Given the description of an element on the screen output the (x, y) to click on. 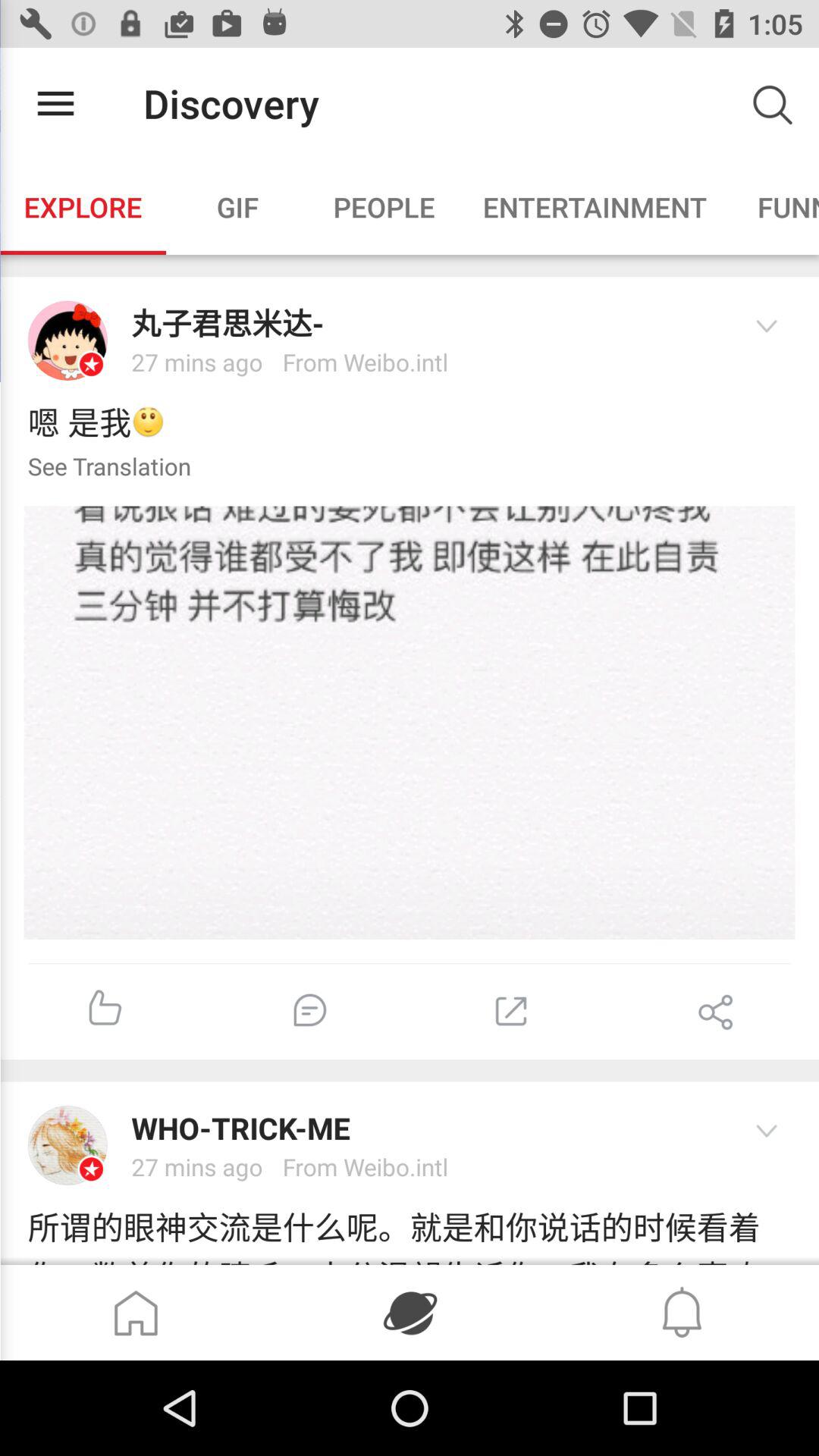
turn on the app to the left of discovery (55, 103)
